Given the description of an element on the screen output the (x, y) to click on. 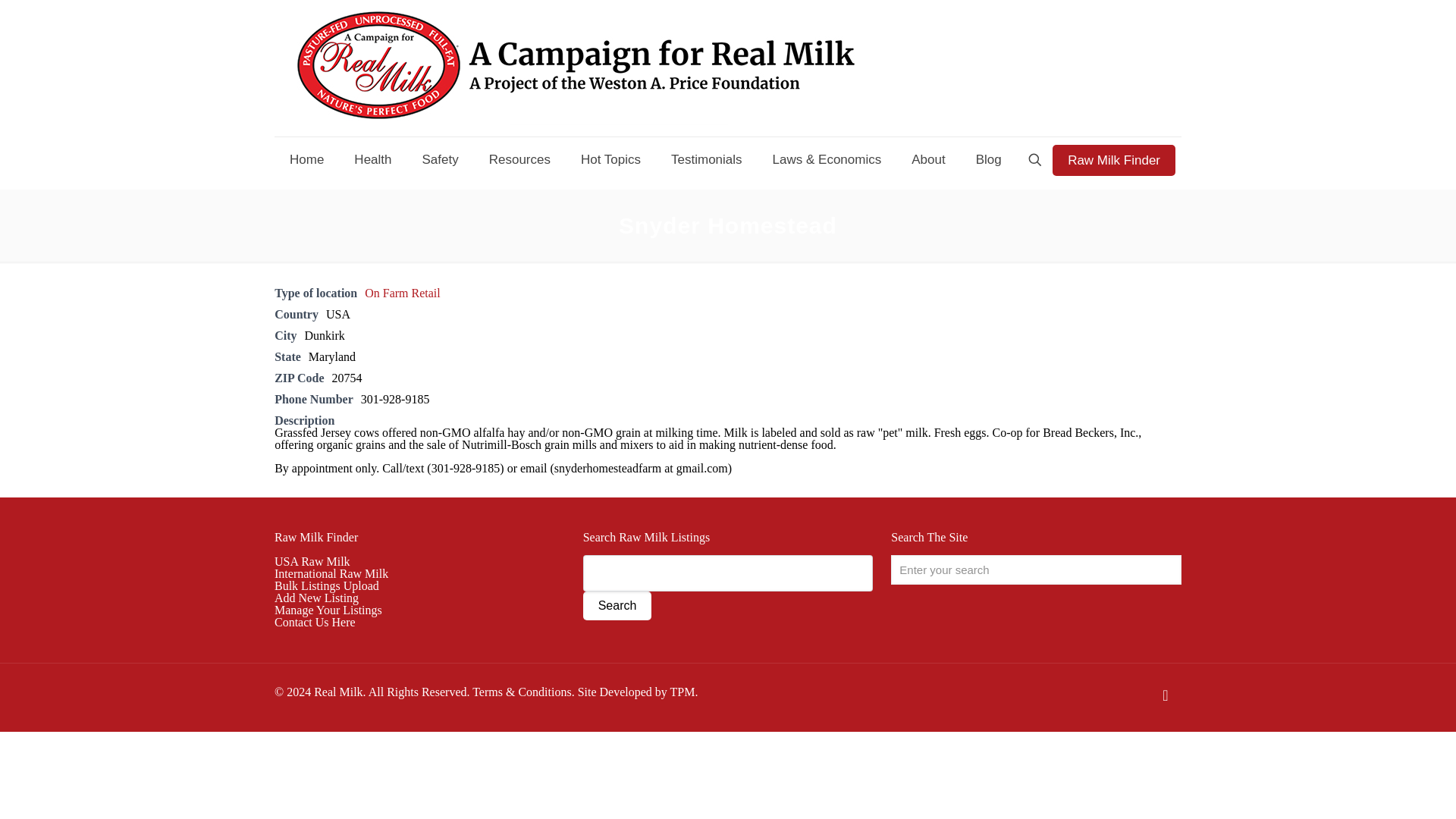
Hot Topics (611, 159)
Health (372, 159)
Raw Milk Finder (316, 536)
Blog (988, 159)
Resources (520, 159)
Safety (439, 159)
Search (617, 605)
Search (617, 605)
About (927, 159)
Home (307, 159)
Raw Milk Finder (1113, 159)
Real Milk (575, 68)
On Farm Retail (403, 292)
Testimonials (706, 159)
